Given the description of an element on the screen output the (x, y) to click on. 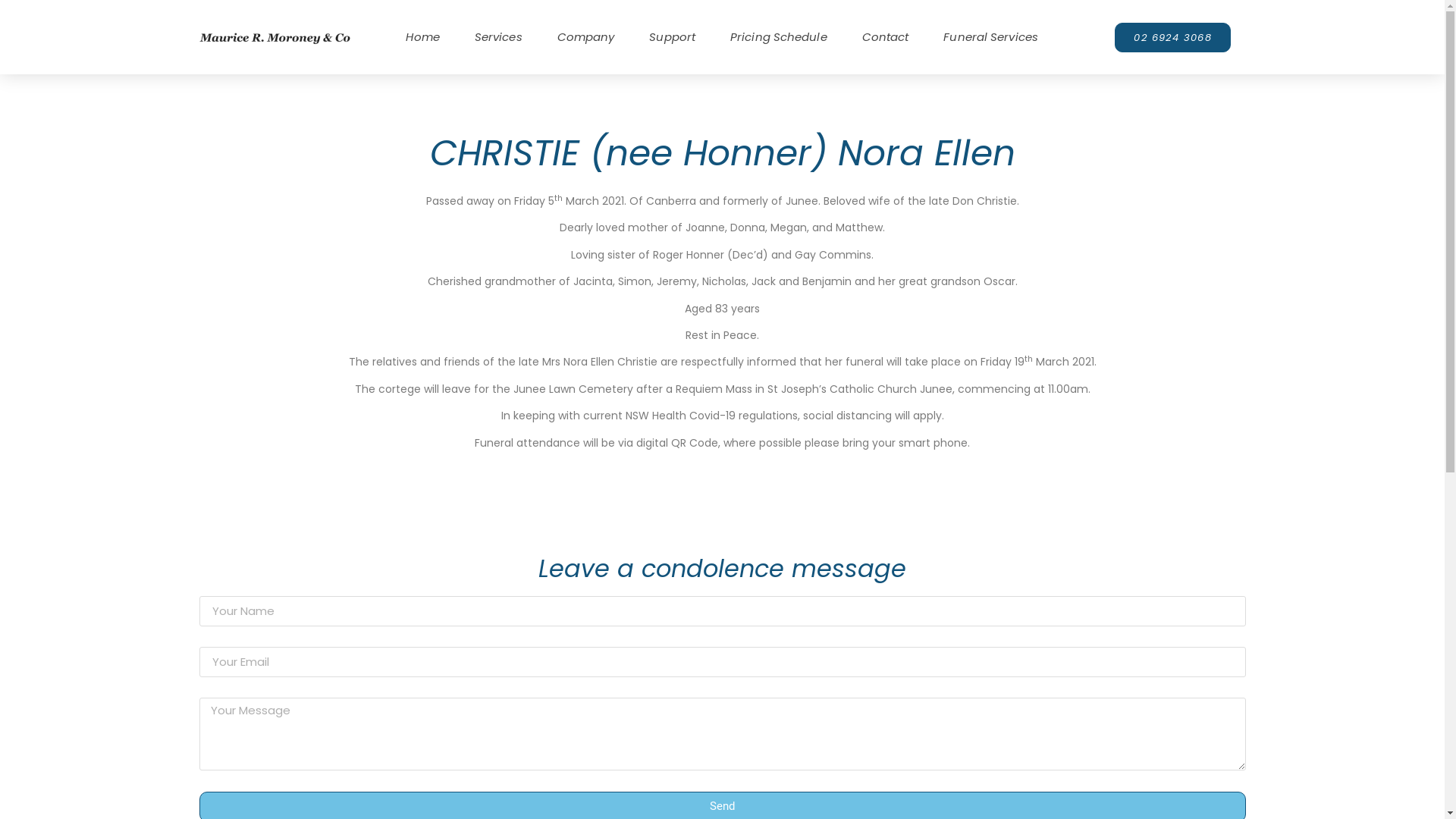
02 6924 3068 Element type: text (1172, 37)
Services Element type: text (498, 36)
Contact Element type: text (885, 36)
Home Element type: text (422, 36)
Company Element type: text (586, 36)
Pricing Schedule Element type: text (778, 36)
Funeral Services Element type: text (990, 36)
Support Element type: text (671, 36)
